Given the description of an element on the screen output the (x, y) to click on. 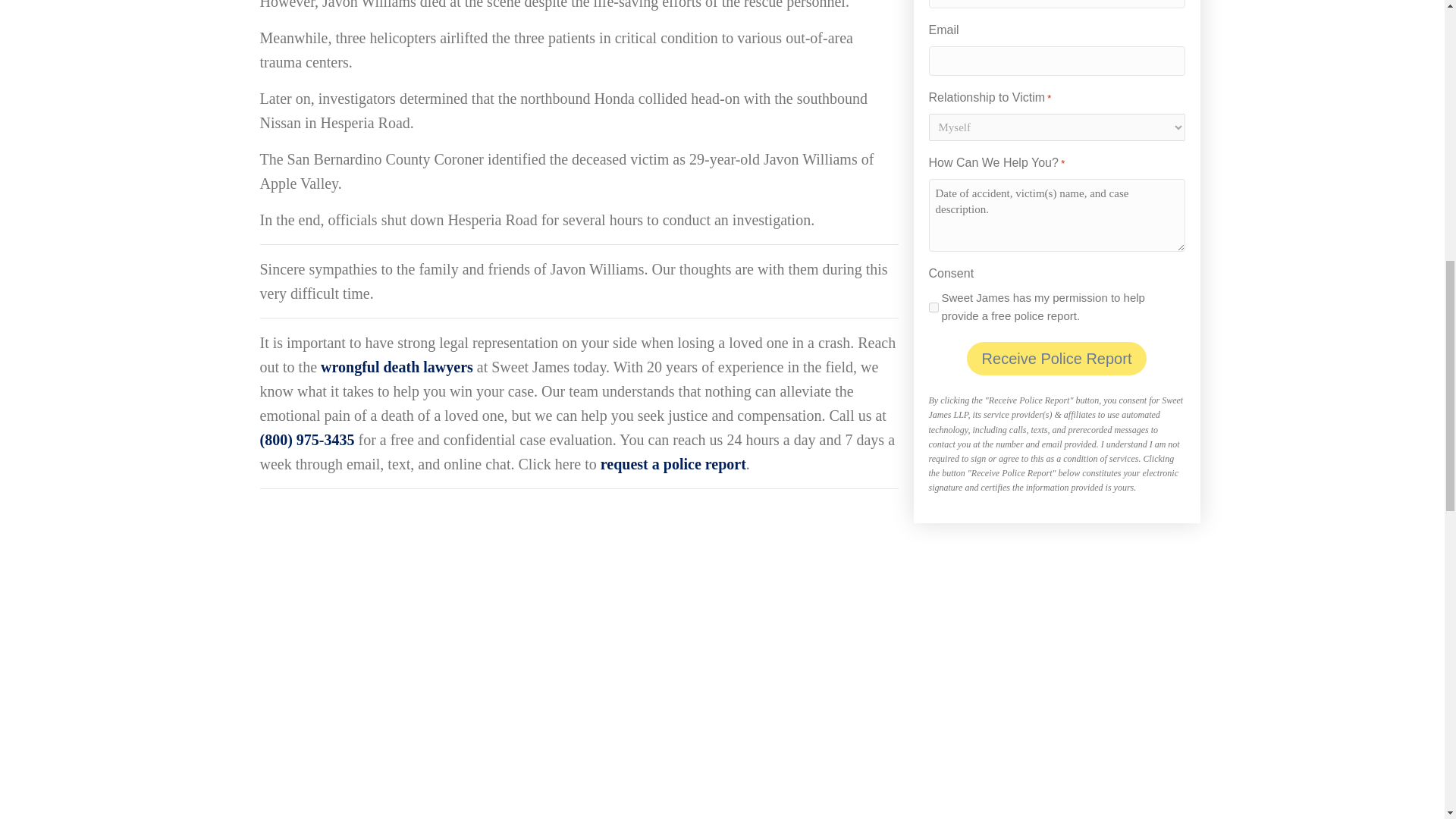
request a police report (672, 463)
Receive Police Report (1056, 358)
wrongful death lawyers (396, 366)
Receive Police Report (1056, 358)
